Given the description of an element on the screen output the (x, y) to click on. 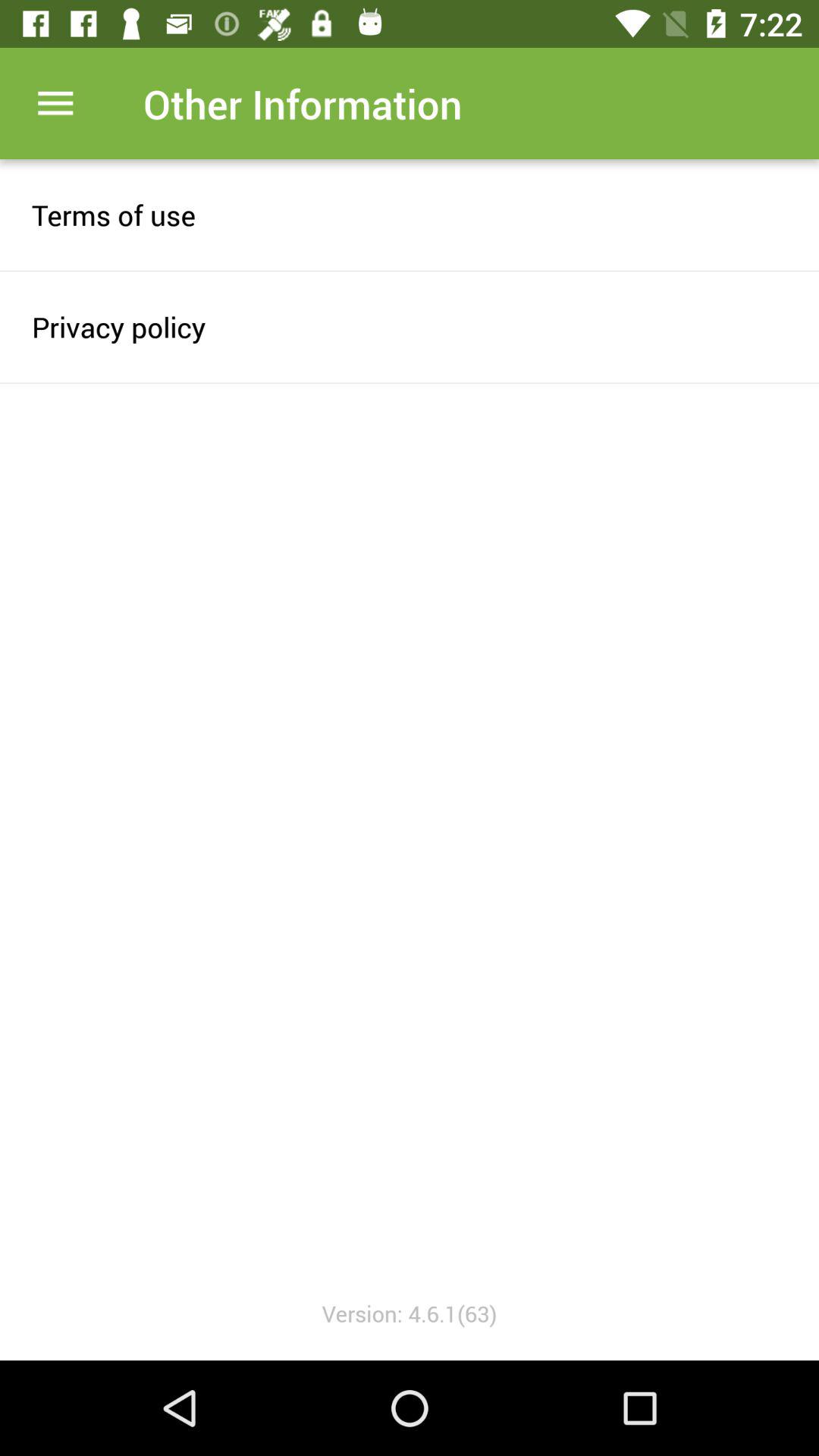
open privacy policy icon (409, 326)
